Given the description of an element on the screen output the (x, y) to click on. 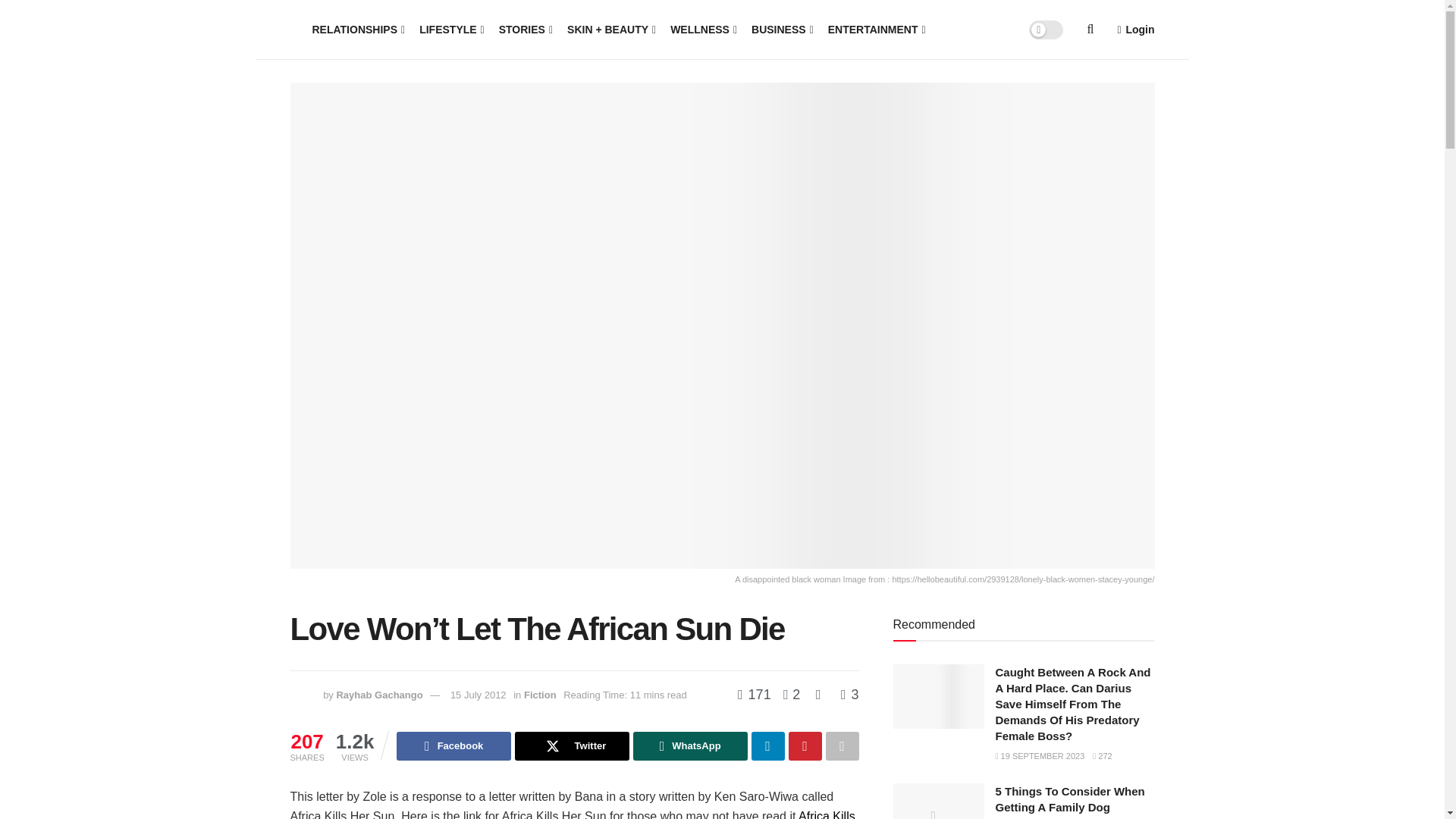
BUSINESS (780, 29)
LIFESTYLE (450, 29)
ENTERTAINMENT (875, 29)
WELLNESS (702, 29)
STORIES (524, 29)
RELATIONSHIPS (358, 29)
